Given the description of an element on the screen output the (x, y) to click on. 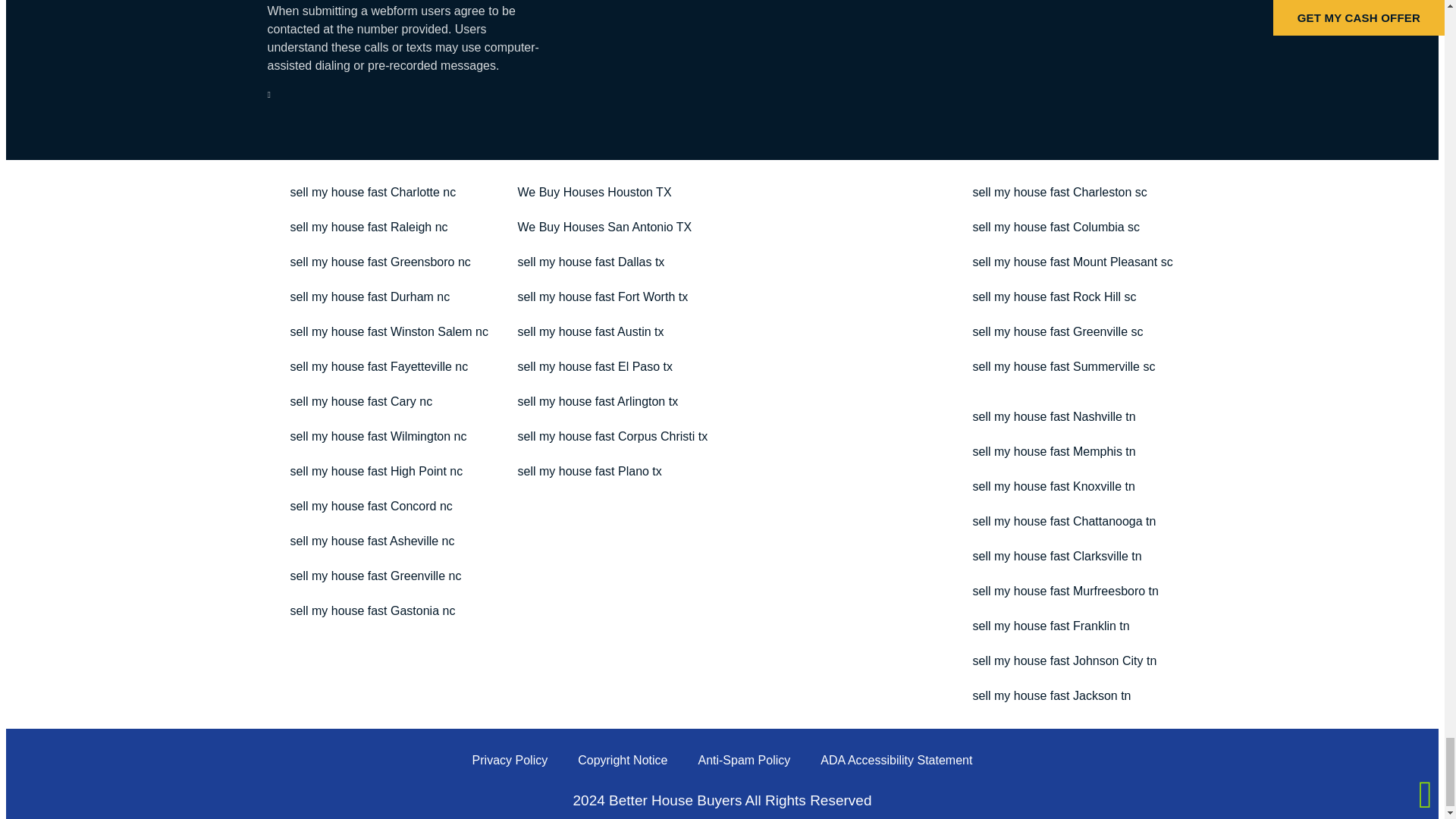
sell my house fast Greensboro nc (379, 262)
sell my house fast Fayetteville nc (379, 366)
sell my house fast Charlotte nc (372, 192)
sell my house fast Durham nc (369, 297)
sell my house fast Winston Salem nc (388, 331)
sell my house fast Raleigh nc (369, 226)
